Given the description of an element on the screen output the (x, y) to click on. 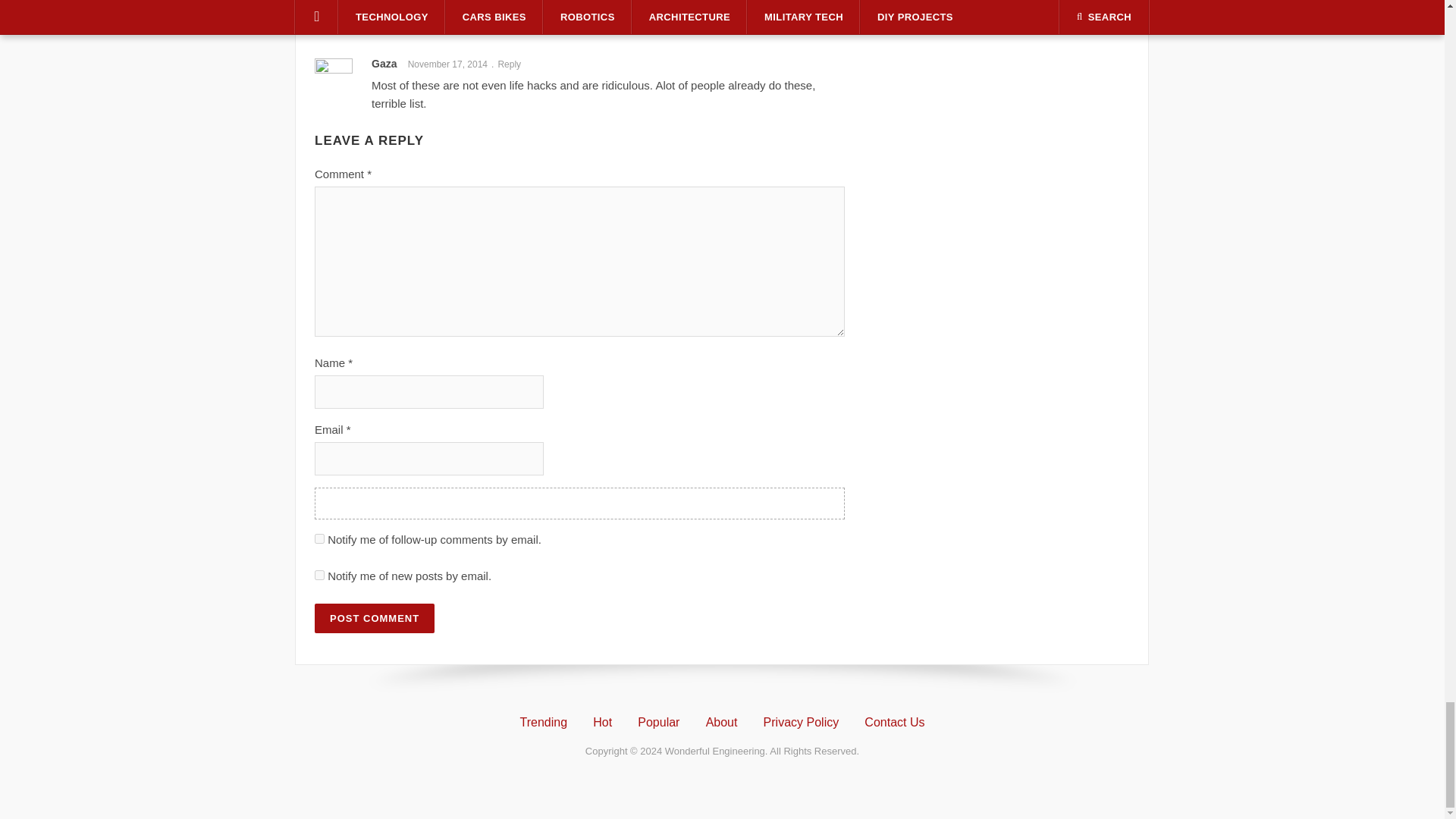
Post Comment (373, 618)
subscribe (319, 574)
subscribe (319, 538)
